Given the description of an element on the screen output the (x, y) to click on. 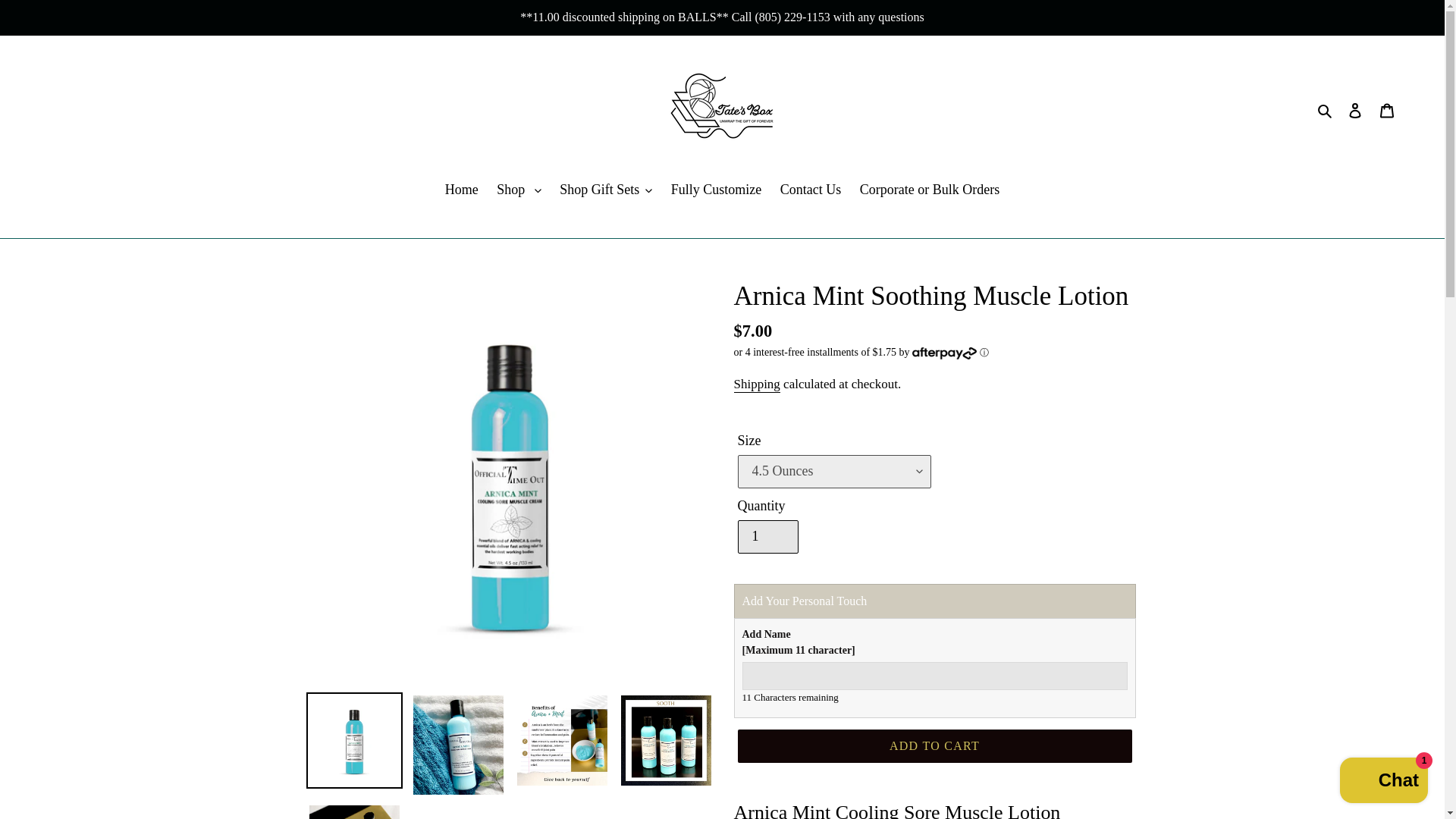
Log in (1355, 109)
Home (462, 190)
Search (1326, 109)
Shopify online store chat (1383, 781)
1 (766, 536)
Cart (1387, 109)
